Given the description of an element on the screen output the (x, y) to click on. 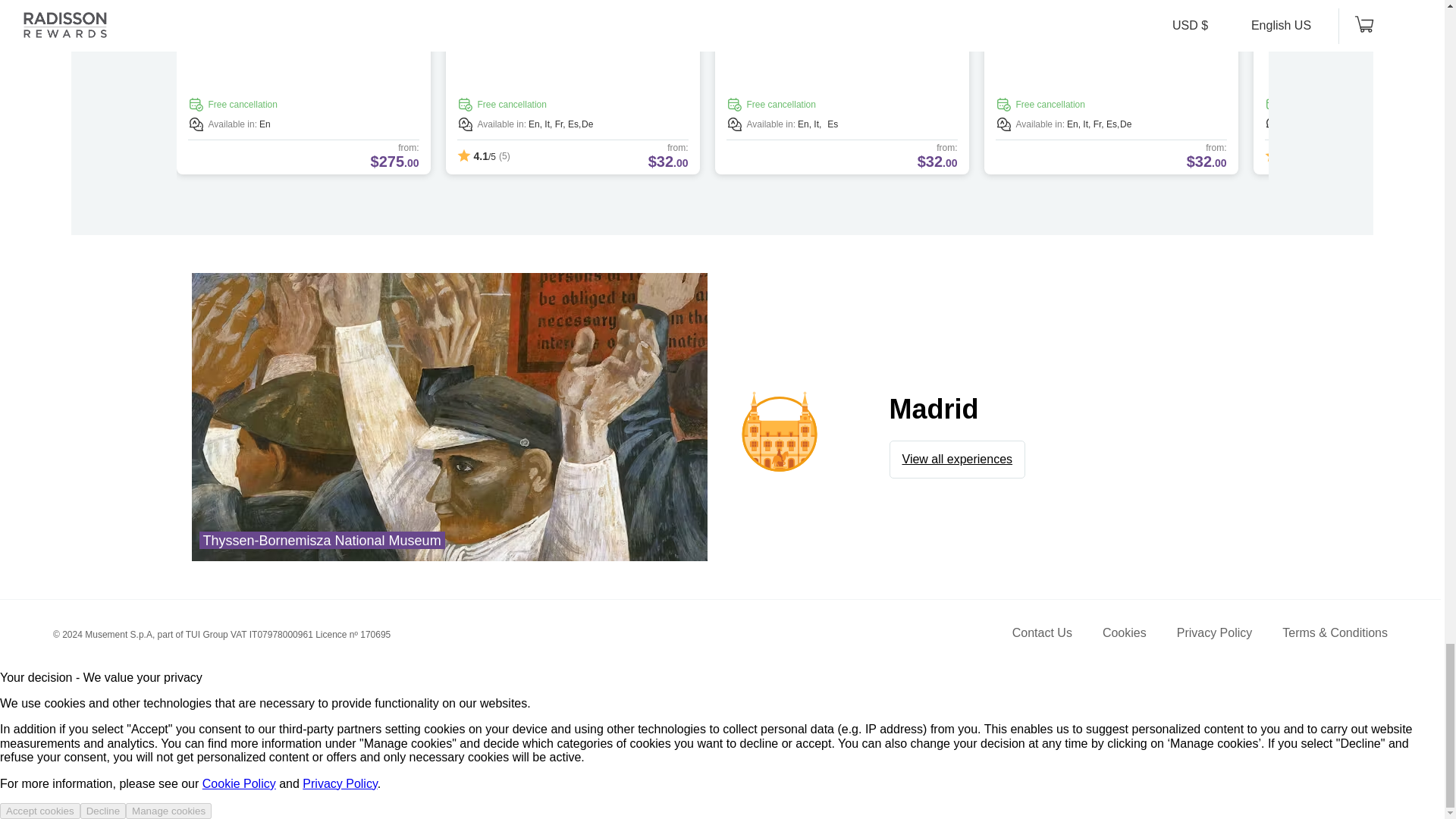
View all experiences (957, 459)
Contact Us (1041, 635)
Cervantes in Madrid private tour in the literary quarter (837, 7)
Privacy Policy (1214, 635)
Cookies (1124, 635)
Habsburgs Madrid private tour with a local guide (564, 7)
